Given the description of an element on the screen output the (x, y) to click on. 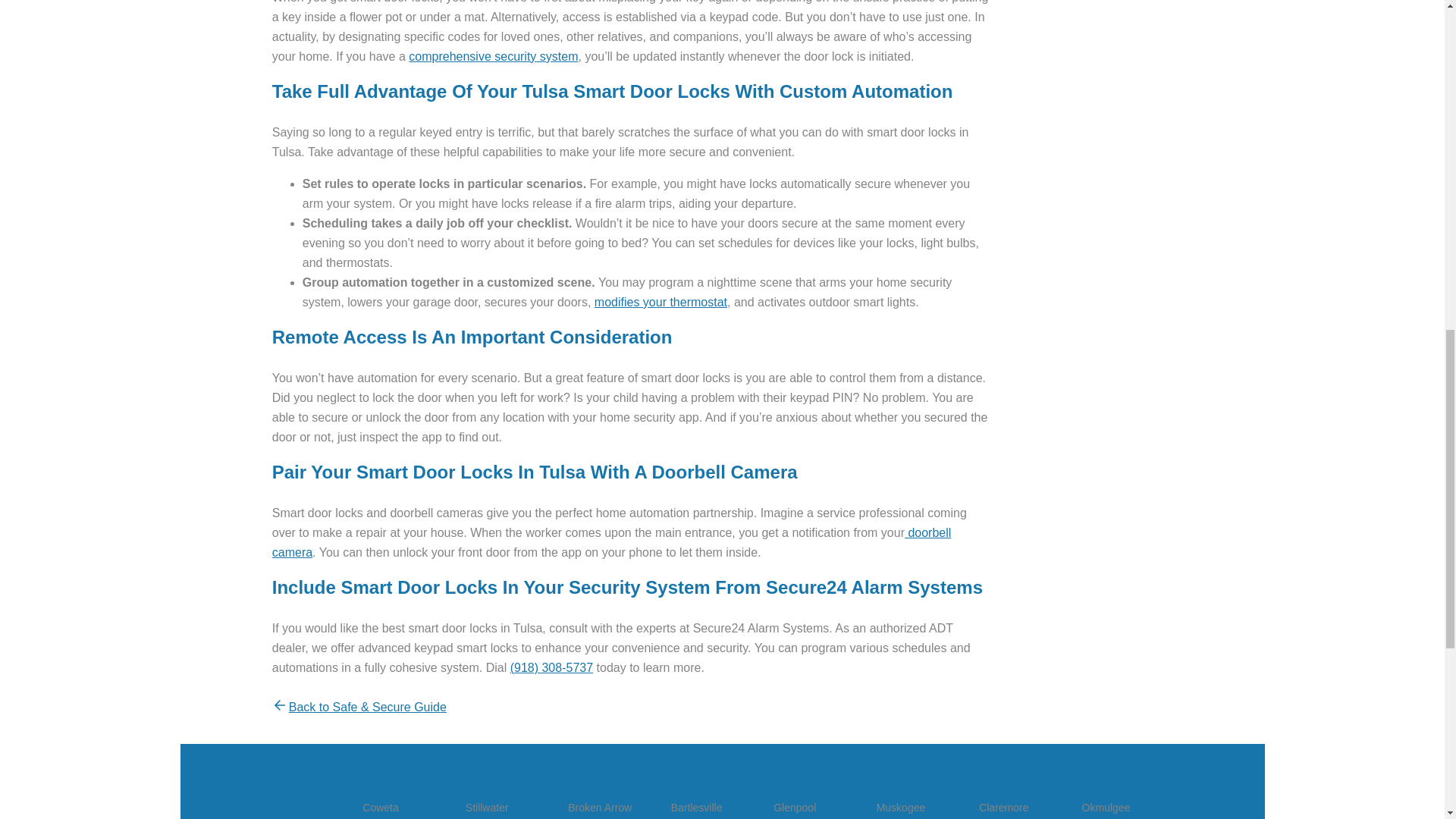
Doorbell camera in Tulsa (612, 542)
Adjusts your thermostat (660, 301)
Fully integrated security system (493, 56)
